Given the description of an element on the screen output the (x, y) to click on. 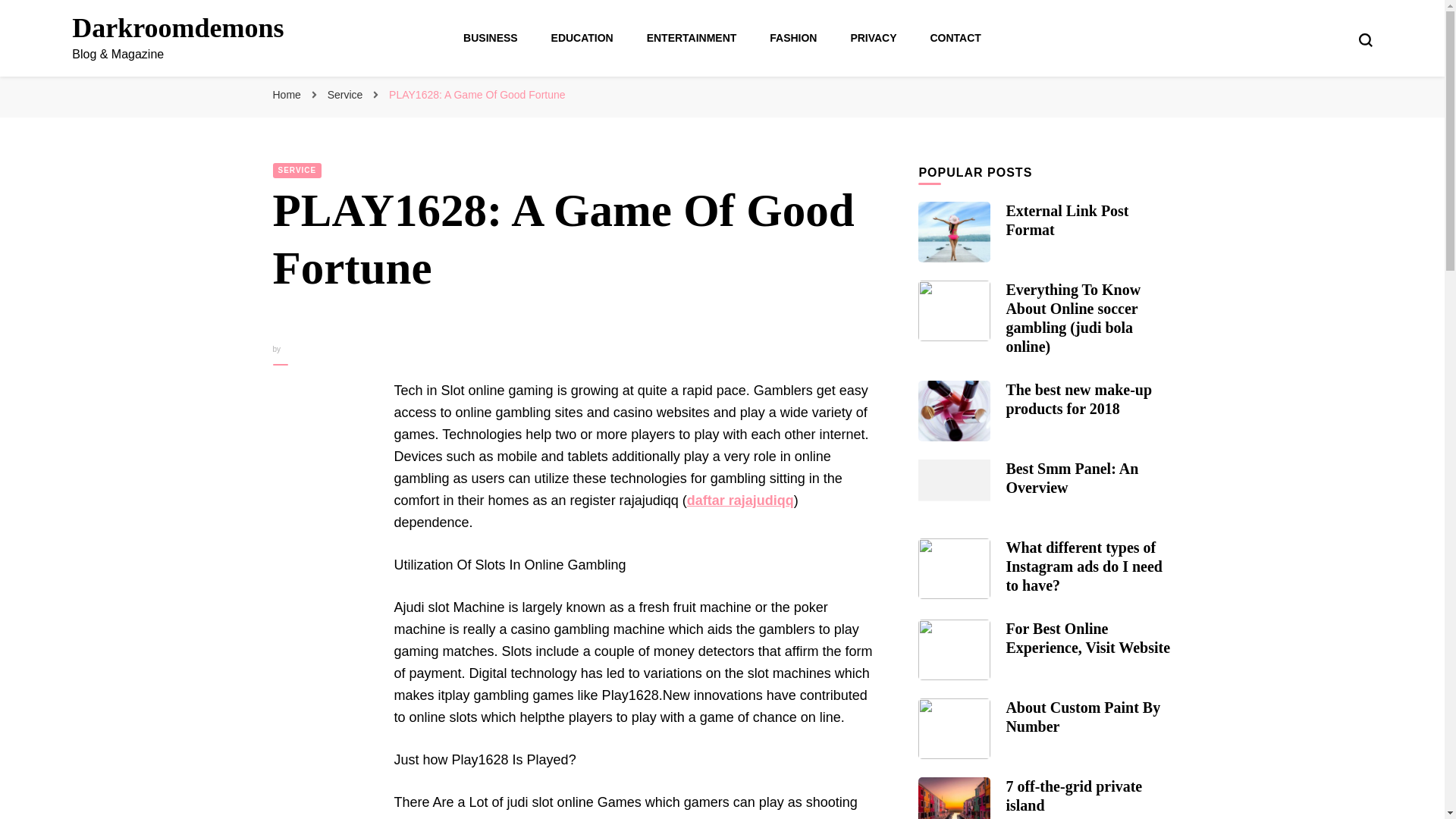
PLAY1628: A Game Of Good Fortune (476, 94)
EDUCATION (581, 37)
CONTACT (954, 37)
FASHION (793, 37)
External Link Post Format (1067, 220)
Service (346, 94)
ENTERTAINMENT (691, 37)
BUSINESS (490, 37)
SERVICE (297, 170)
PRIVACY (873, 37)
daftar rajajudiqq (740, 500)
Home (287, 94)
Darkroomdemons (177, 28)
